Given the description of an element on the screen output the (x, y) to click on. 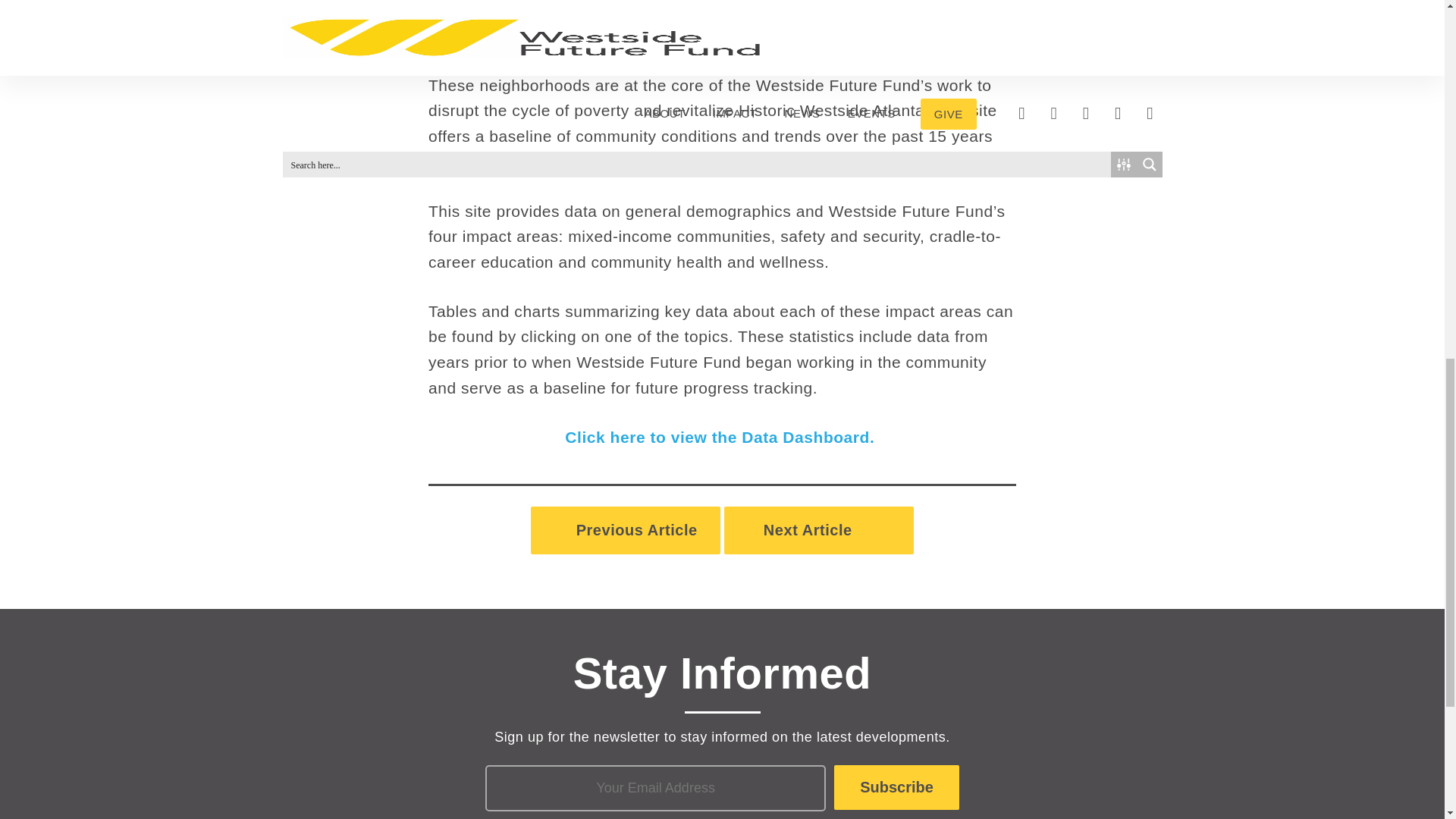
Click here to view the Data Dashboard.  (721, 436)
Subscribe (896, 786)
